Given the description of an element on the screen output the (x, y) to click on. 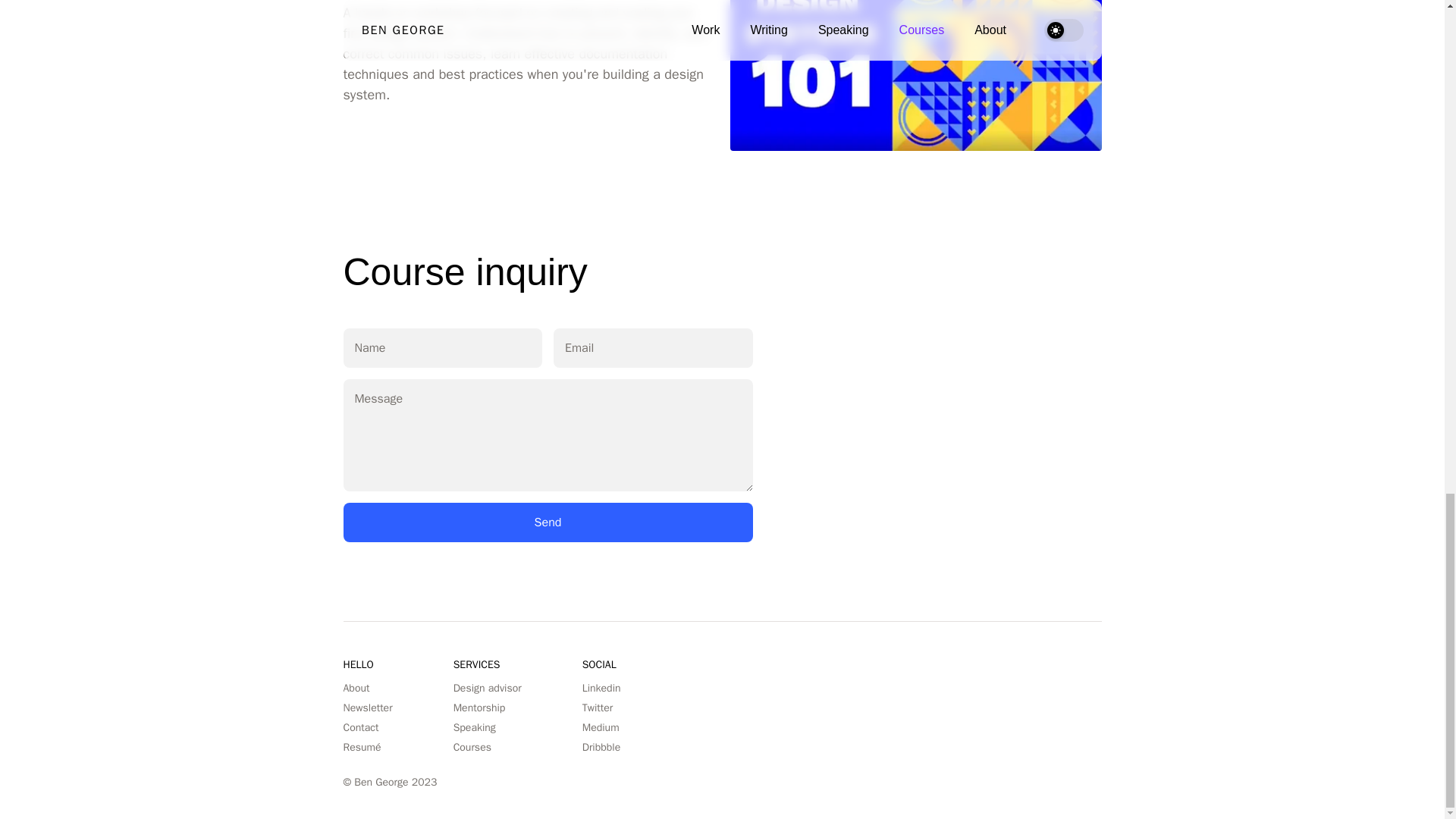
Design advisor (486, 687)
Send (547, 522)
Linkedin (601, 687)
Speaking (474, 727)
Contact (360, 727)
About (355, 687)
Dribbble (601, 747)
Mentorship (478, 707)
Send (547, 522)
Courses (472, 747)
Medium (601, 727)
Newsletter (366, 707)
Twitter (597, 707)
